Given the description of an element on the screen output the (x, y) to click on. 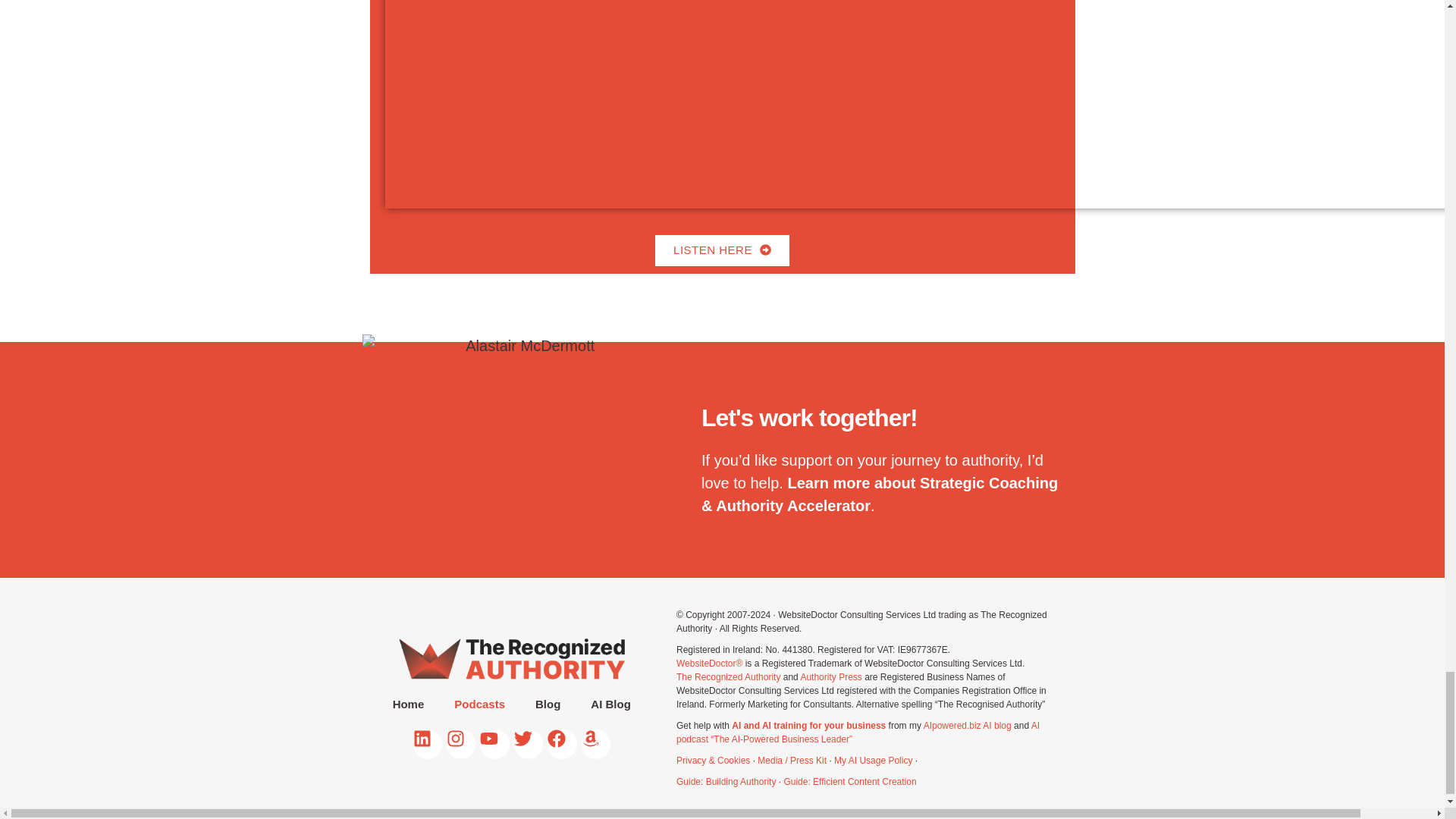
Strategic Coaching (989, 483)
Authority Accelerator (793, 505)
Blog (547, 704)
Podcasts (479, 704)
LISTEN HERE (722, 250)
Home (408, 704)
AI Blog (610, 704)
